Given the description of an element on the screen output the (x, y) to click on. 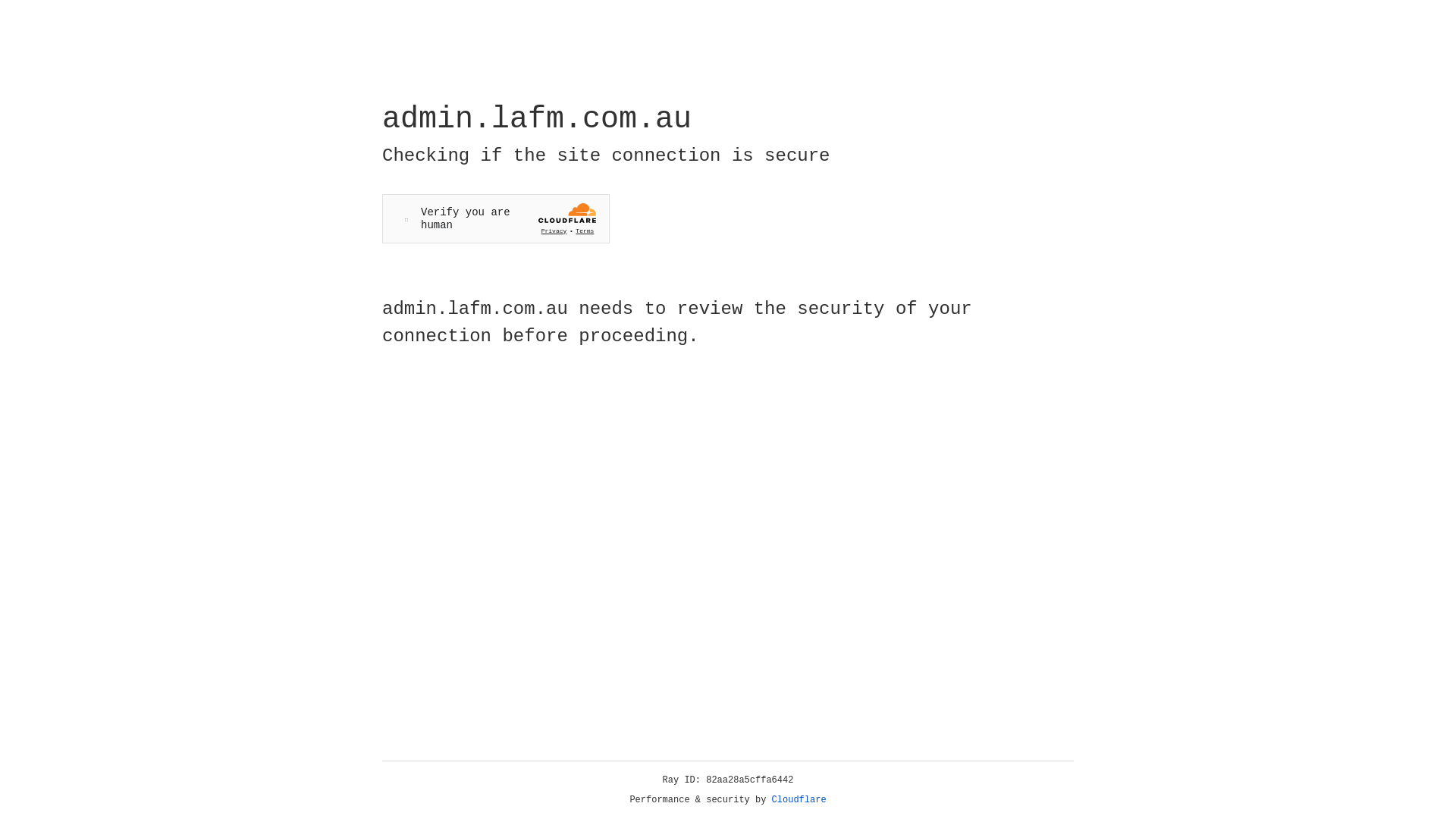
Cloudflare Element type: text (798, 799)
Widget containing a Cloudflare security challenge Element type: hover (495, 218)
